Given the description of an element on the screen output the (x, y) to click on. 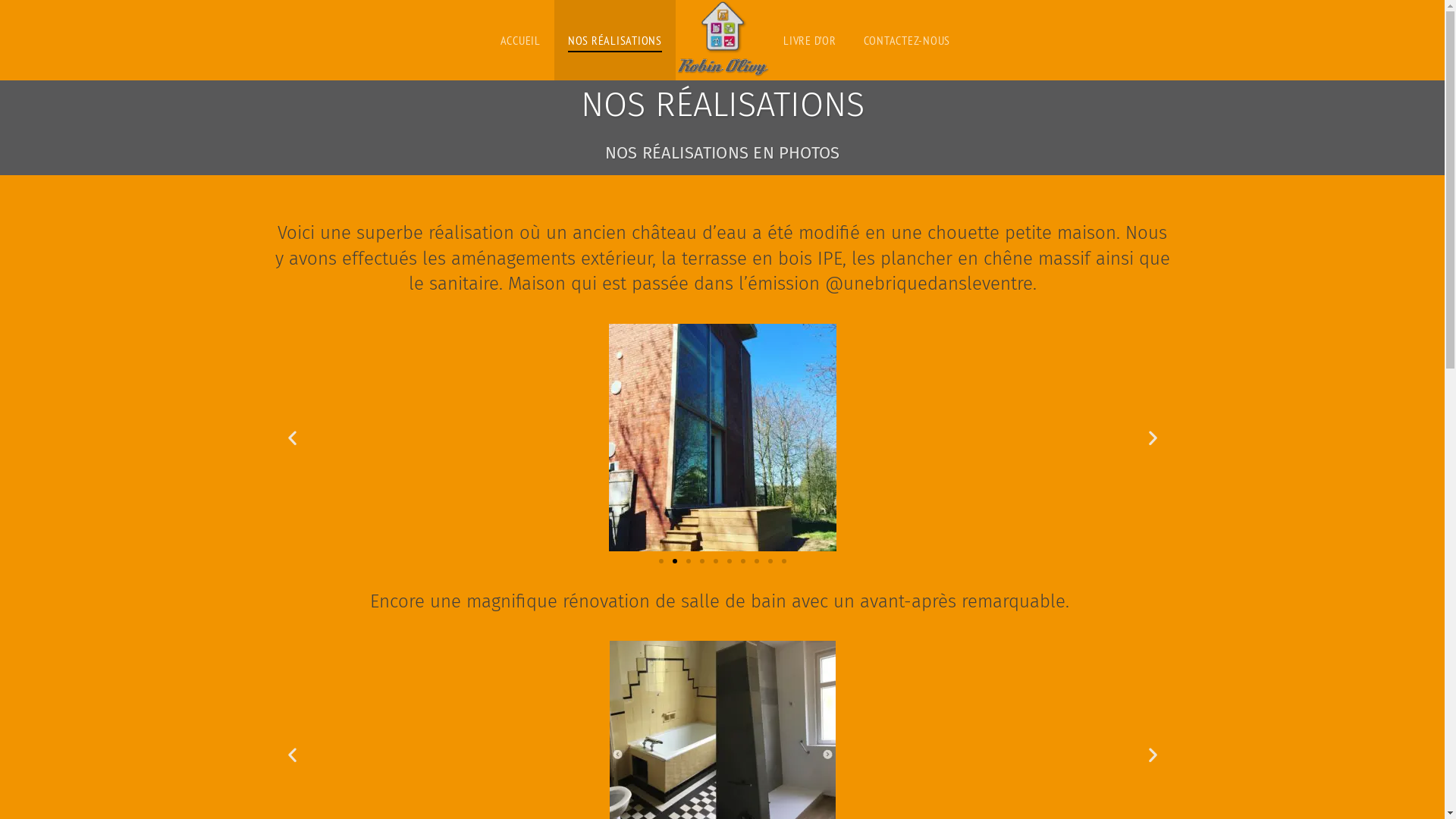
ACCUEIL Element type: text (520, 40)
CONTACTEZ-NOUS Element type: text (907, 40)
